Given the description of an element on the screen output the (x, y) to click on. 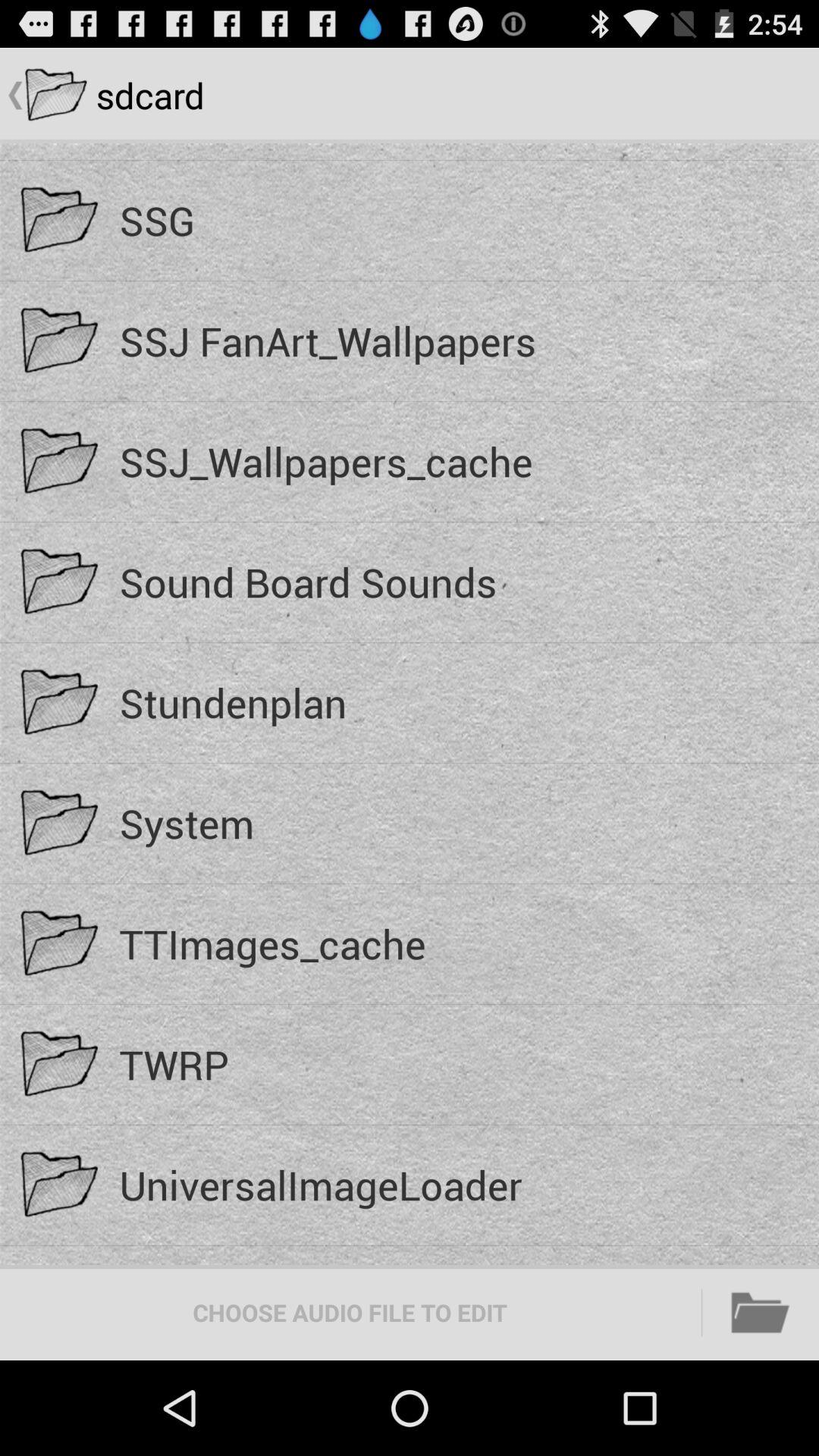
press the item next to the choose audio file icon (760, 1312)
